Given the description of an element on the screen output the (x, y) to click on. 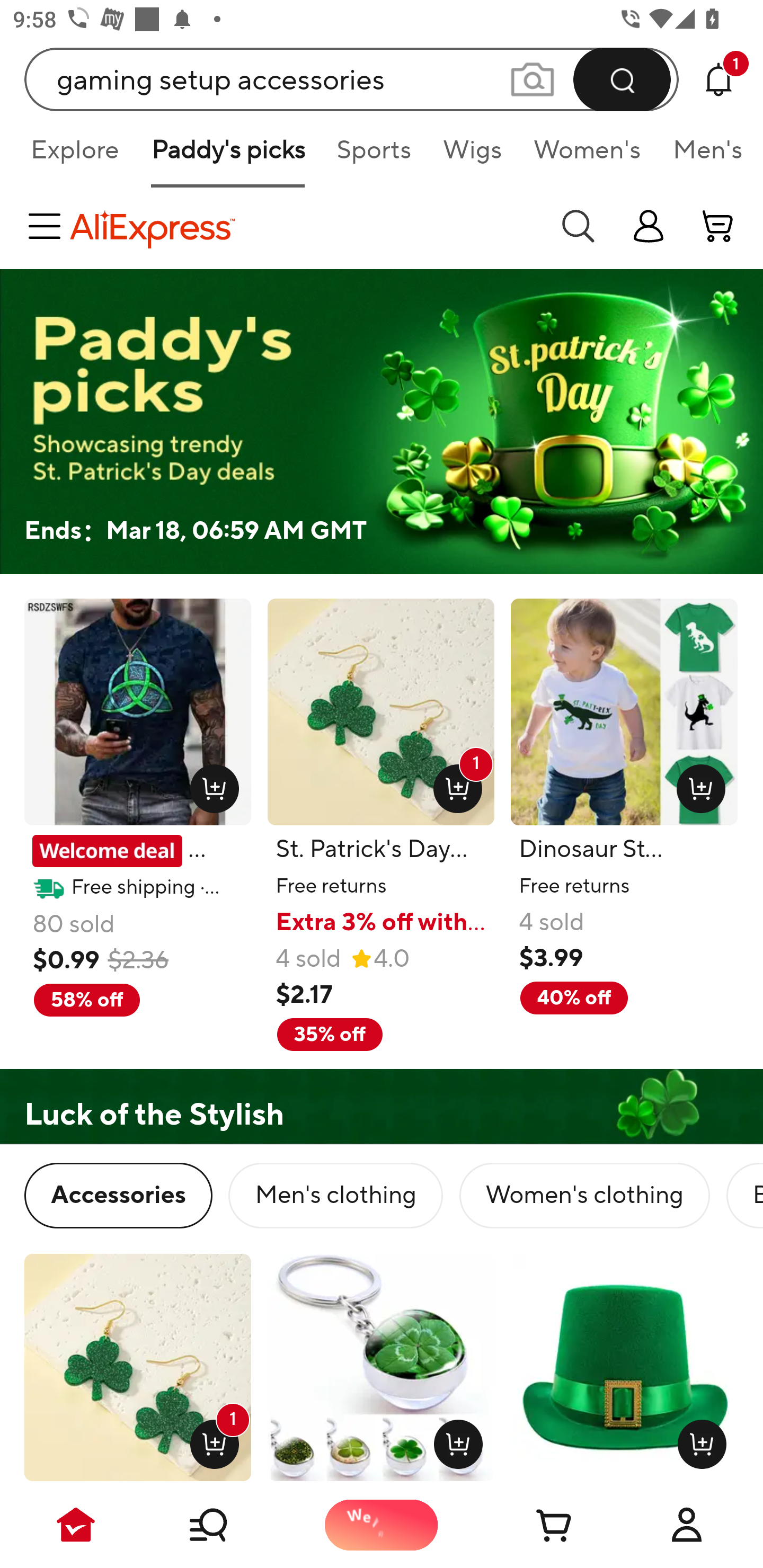
gaming setup accessories (351, 79)
Explore (74, 155)
Sports (373, 155)
Wigs (472, 155)
Women's (586, 155)
Men's (701, 155)
aliexpress (305, 225)
category (47, 225)
shop (648, 225)
account (718, 225)
128x128.png_ (210, 784)
1 128x128.png_ (453, 784)
128x128.png_ (695, 784)
Accessories (117, 1195)
Men's clothing (335, 1195)
Women's clothing (583, 1195)
1 128x128.png_ (210, 1439)
128x128.png_ (454, 1439)
128x128.png_ (697, 1439)
Shop (228, 1524)
Cart (533, 1524)
Account (686, 1524)
